Given the description of an element on the screen output the (x, y) to click on. 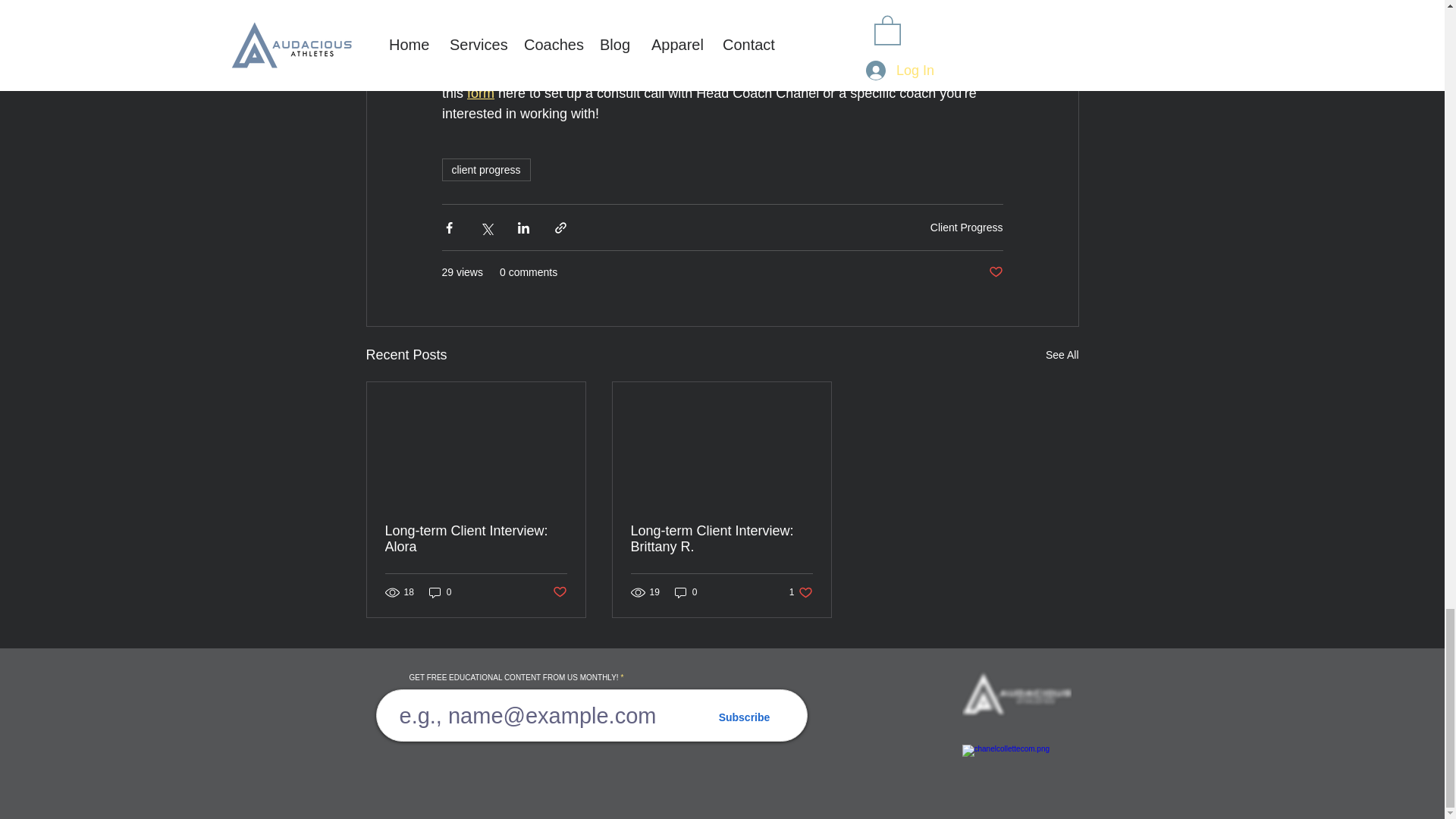
Client Progress (966, 227)
Post not marked as liked (995, 272)
form (481, 92)
Instagram (768, 51)
client progress (485, 169)
Long-term Client Interview: Alora (476, 539)
See All (1061, 354)
